Given the description of an element on the screen output the (x, y) to click on. 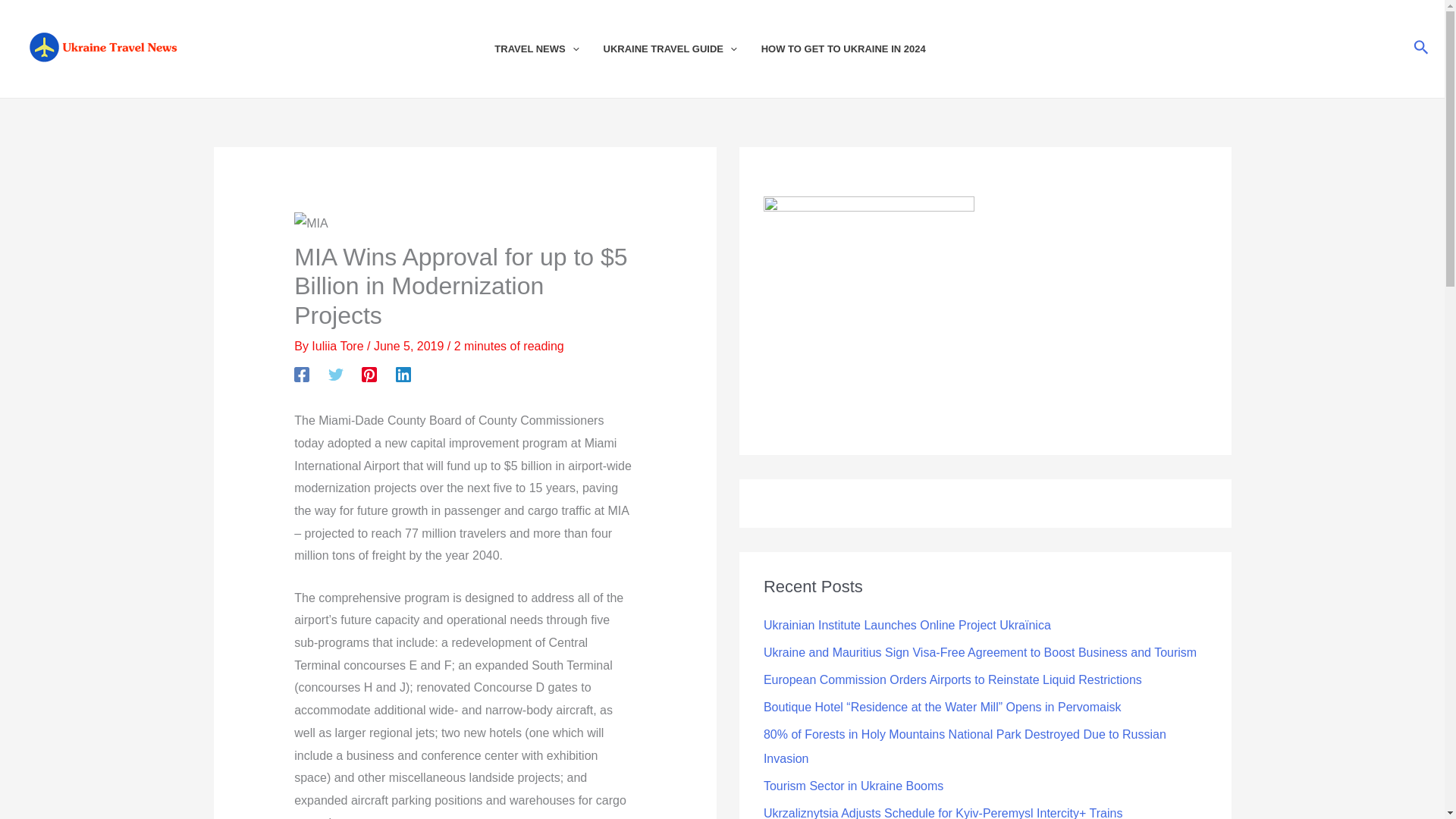
View all posts by Iuliia Tore (338, 345)
TRAVEL NEWS (548, 48)
HOW TO GET TO UKRAINE IN 2024 (855, 48)
Iuliia Tore (338, 345)
UKRAINE TRAVEL GUIDE (682, 48)
